Given the description of an element on the screen output the (x, y) to click on. 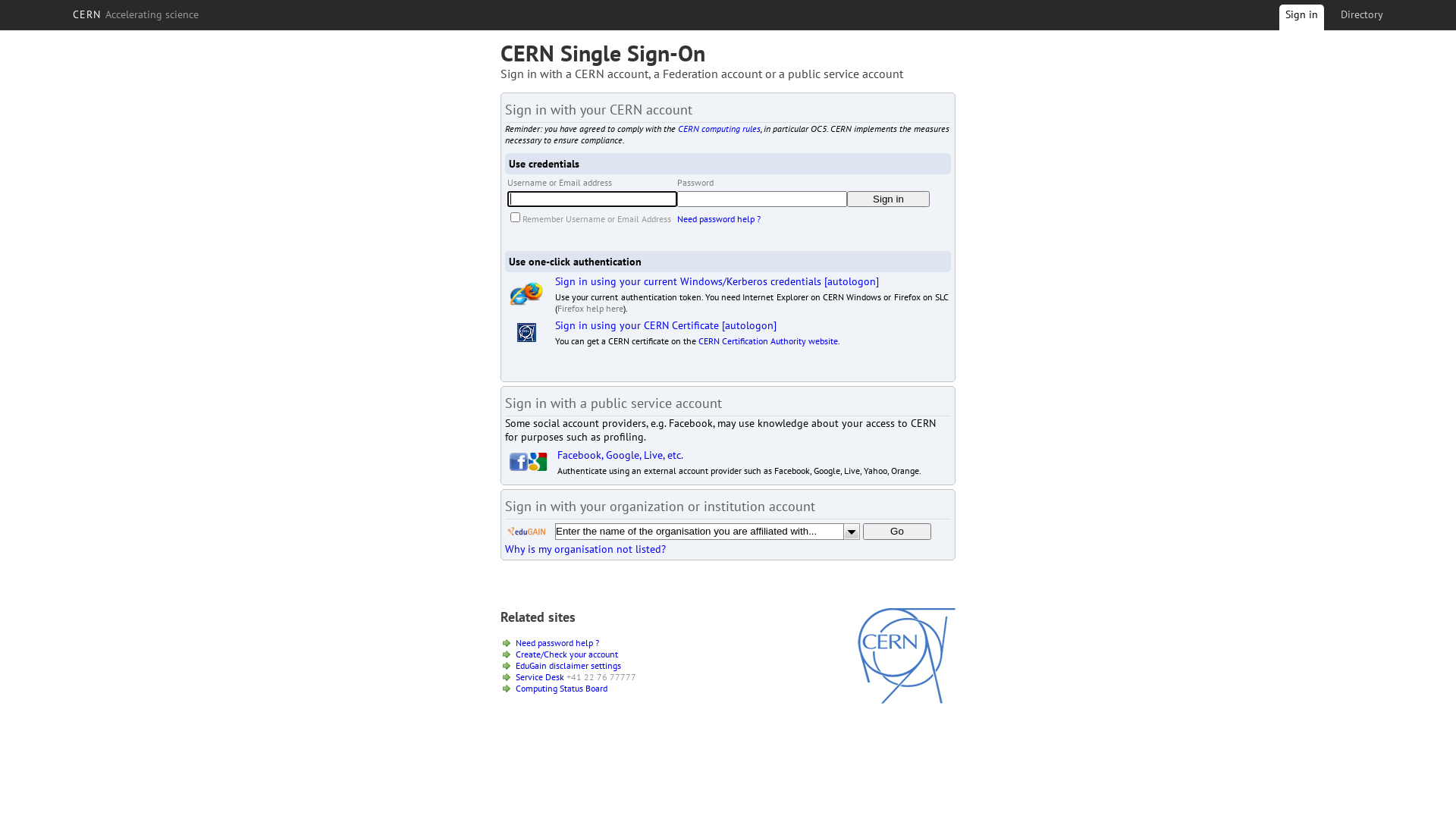
CERN Accelerating science Element type: text (135, 14)
CERN Single Sign-On Element type: text (602, 52)
Sign in Element type: text (1301, 19)
Why is my organisation not listed? Element type: text (585, 548)
[autologon] Element type: text (851, 281)
Service Desk Element type: text (539, 676)
[autologon] Element type: text (748, 325)
Sign in using your CERN Certificate Element type: text (636, 325)
Sign in Element type: text (888, 199)
Need password help ? Element type: text (718, 218)
Need password help ? Element type: text (557, 642)
[show debug information] Element type: text (549, 565)
Computing Status Board Element type: text (561, 687)
CERN Element type: hover (906, 699)
Facebook, Google, Live, etc. Element type: text (620, 454)
Go Element type: text (896, 531)
Sign in using your current Windows/Kerberos credentials Element type: text (688, 281)
EduGain disclaimer settings Element type: text (568, 665)
CERN computing rules Element type: text (718, 128)
Create/Check your account Element type: text (566, 653)
Enter your Username or Email Address Element type: hover (592, 199)
Firefox help here Element type: text (590, 307)
CERN Certification Authority website Element type: text (767, 340)
Directory Element type: text (1361, 14)
